Given the description of an element on the screen output the (x, y) to click on. 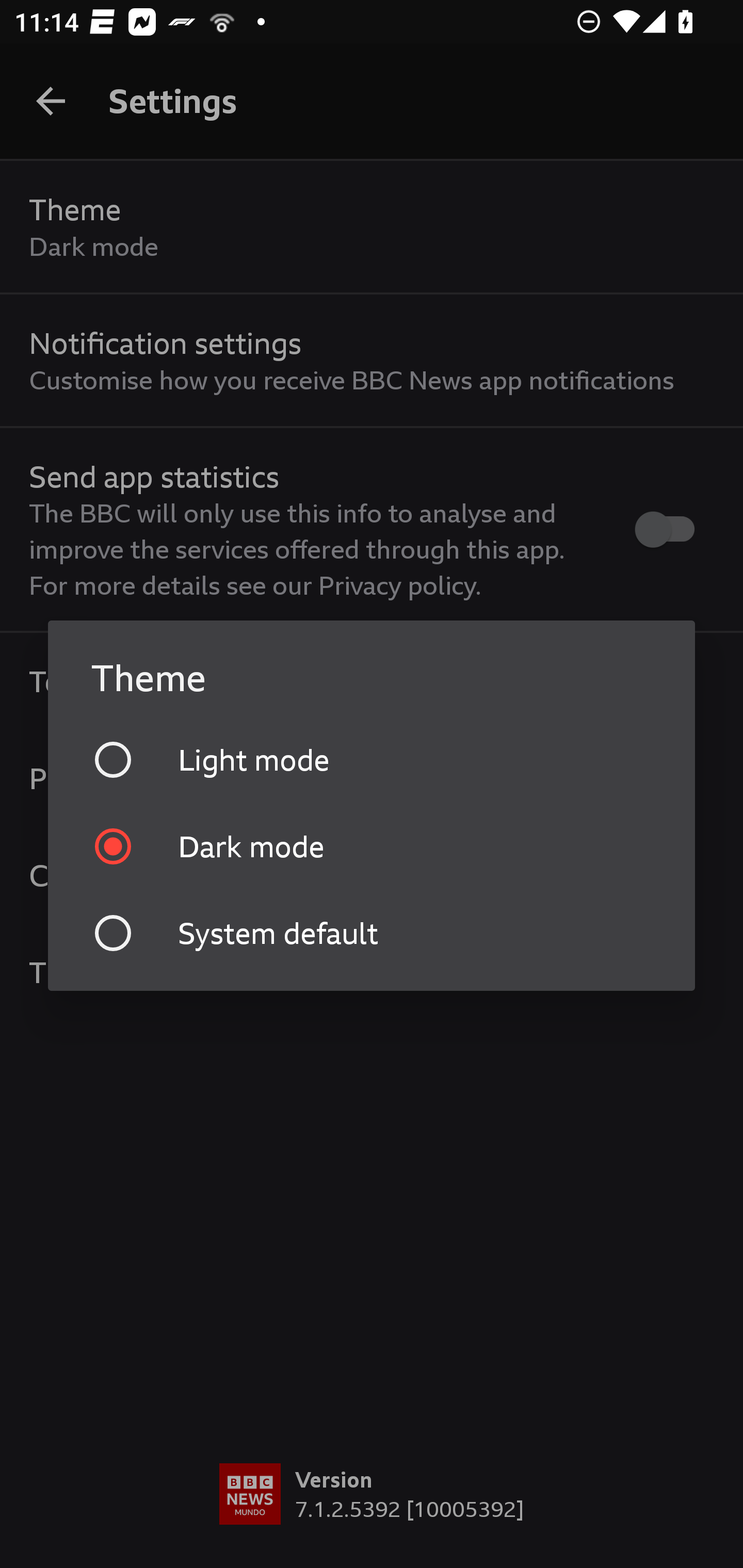
Light mode (371, 759)
Dark mode (371, 845)
System default (371, 932)
